Given the description of an element on the screen output the (x, y) to click on. 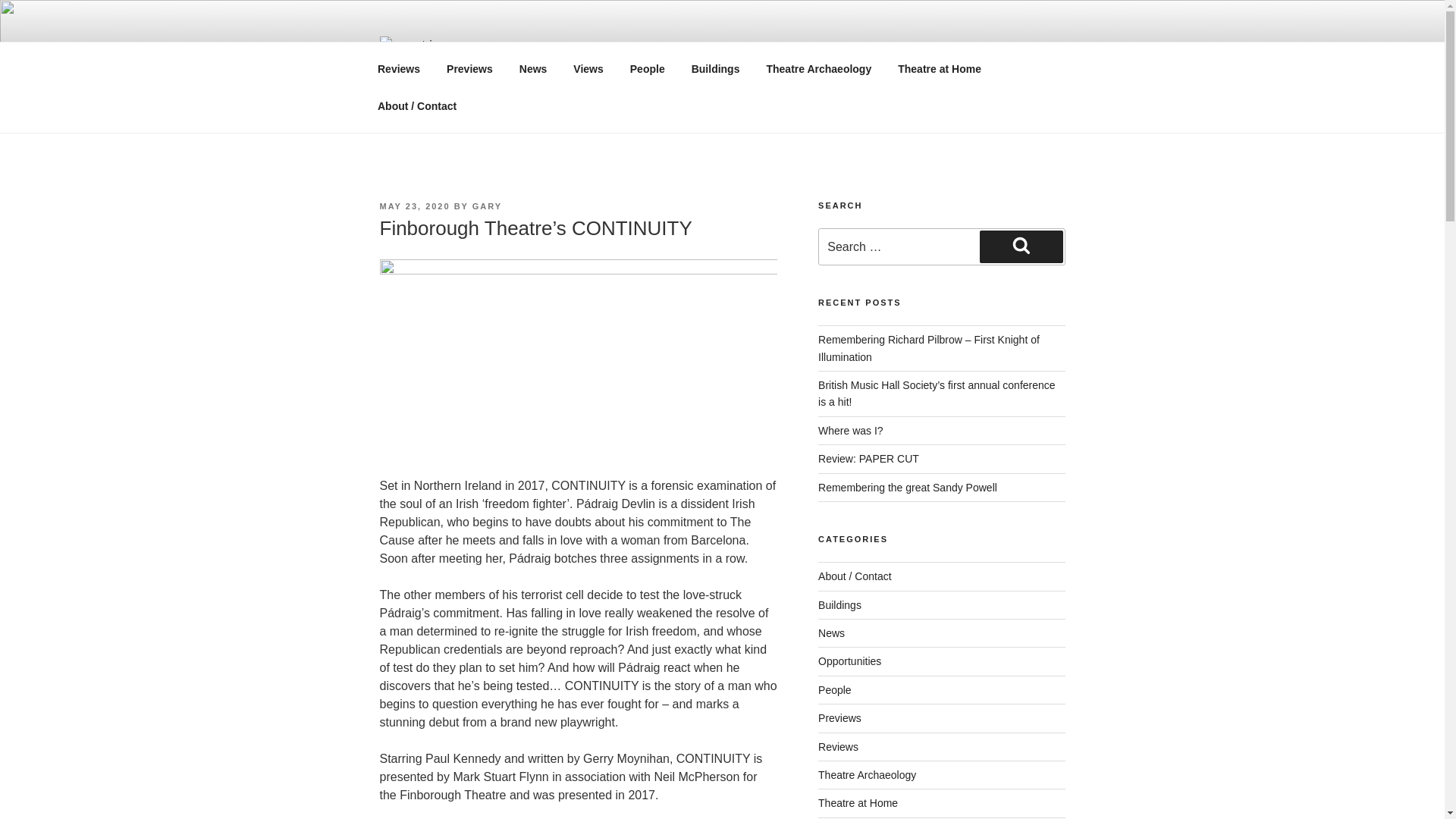
GARY (486, 205)
Remembering the great Sandy Powell (907, 486)
UNRESTRICTED THEATRE (660, 57)
People (646, 67)
News (532, 67)
Buildings (715, 67)
Theatre at Home (939, 67)
Opportunities (849, 661)
Theatre Archaeology (818, 67)
Views (587, 67)
Buildings (839, 604)
News (831, 633)
Review: PAPER CUT (868, 458)
Previews (469, 67)
Where was I? (850, 430)
